Given the description of an element on the screen output the (x, y) to click on. 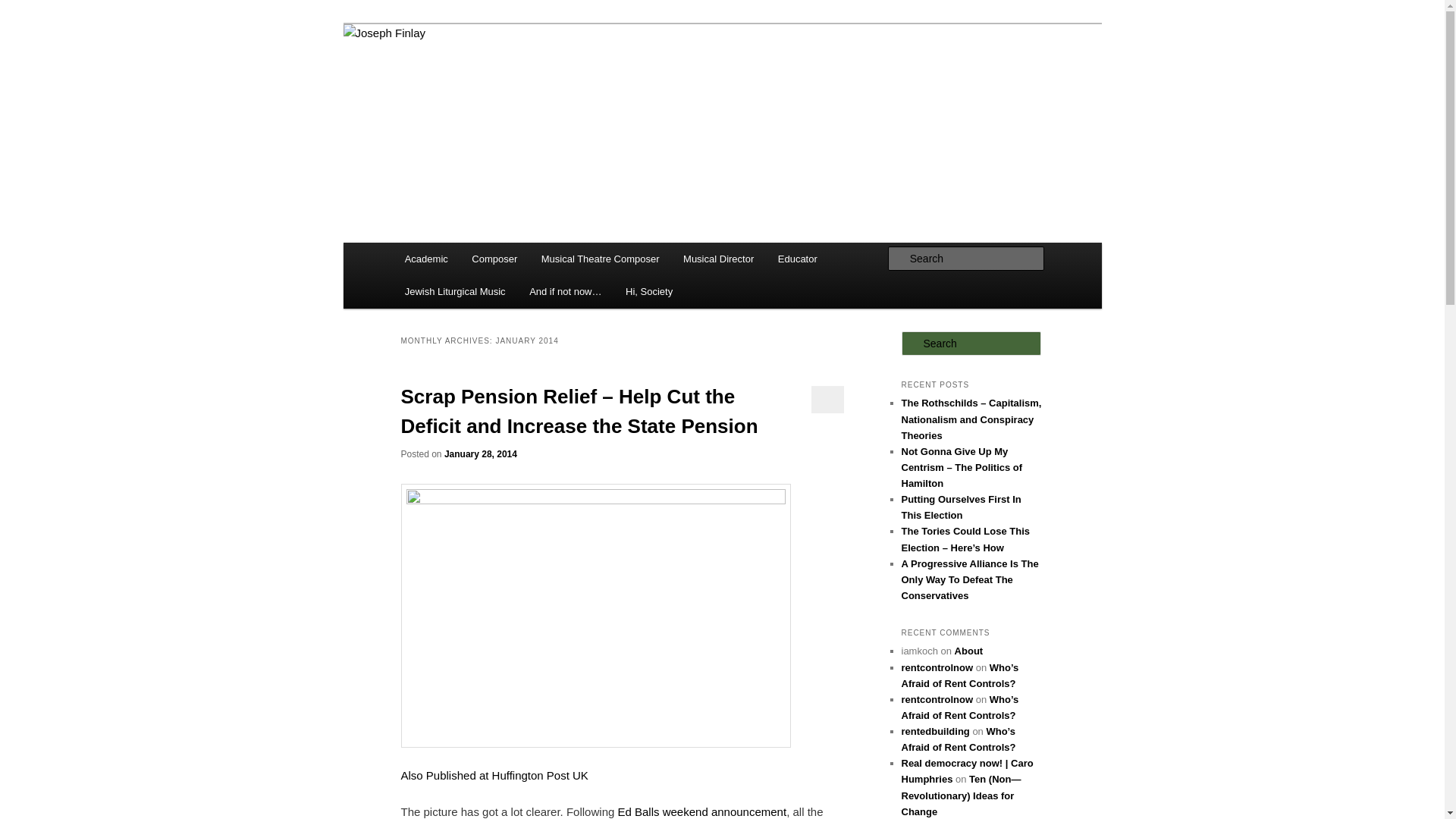
Joseph Finlay (475, 78)
Search (24, 8)
Educator (797, 258)
Ed Balls weekend announcement (701, 811)
Hi, Society (648, 291)
January 28, 2014 (480, 453)
Also Published at Huffington Post UK (494, 775)
Academic (426, 258)
Composer (494, 258)
